Given the description of an element on the screen output the (x, y) to click on. 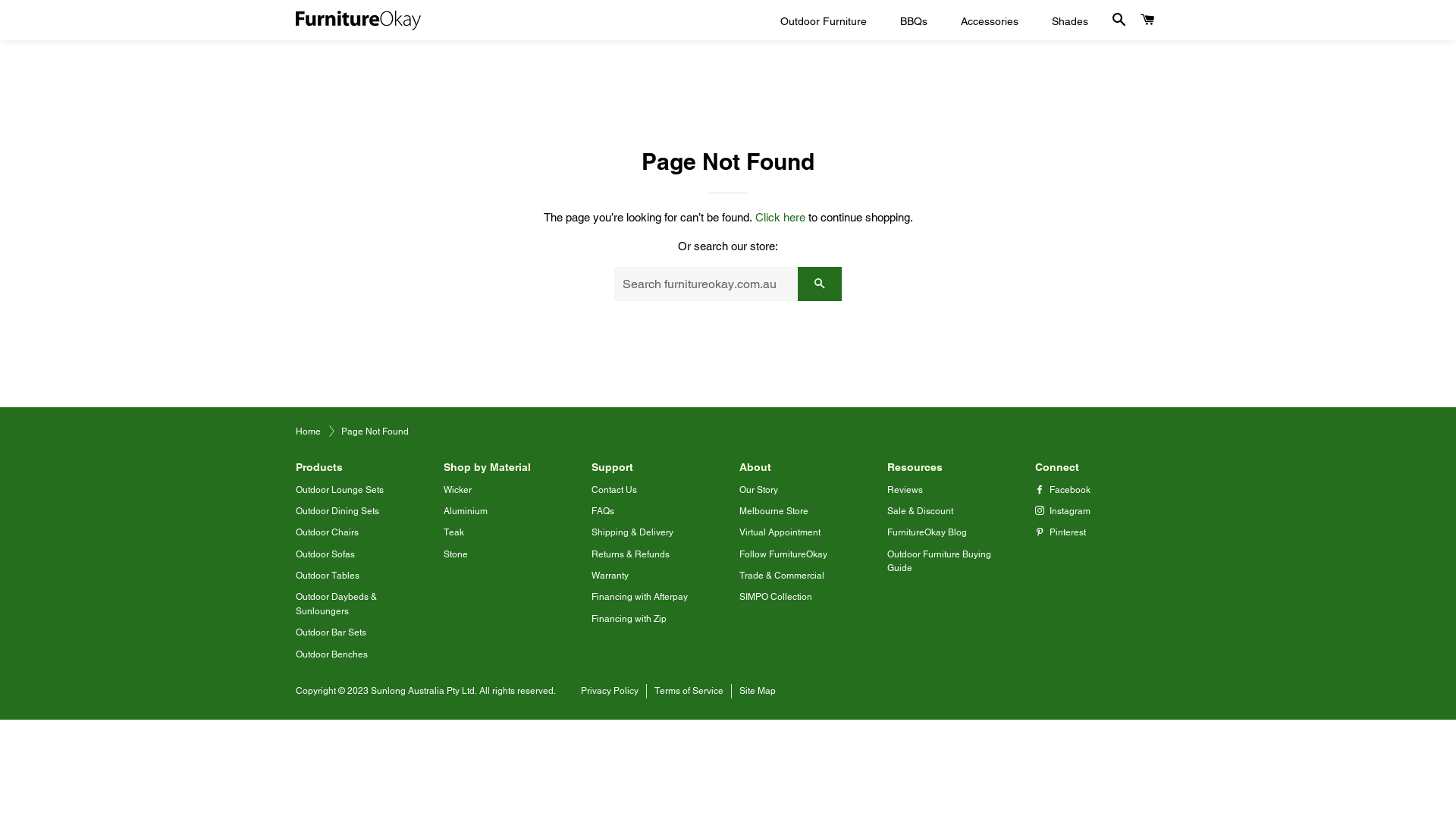
Facebook Element type: text (1062, 489)
Warranty Element type: text (609, 575)
Click here Element type: text (780, 216)
Home Element type: text (307, 431)
Melbourne Store Element type: text (773, 510)
Aluminium Element type: text (465, 510)
Trade & Commercial Element type: text (781, 575)
Sale & Discount Element type: text (920, 510)
Outdoor Tables Element type: text (327, 575)
Follow FurnitureOkay Element type: text (783, 554)
Search Element type: text (1119, 20)
SIMPO Collection Element type: text (775, 596)
Shades Element type: text (1069, 21)
Outdoor Chairs Element type: text (326, 532)
Outdoor Daybeds & Sunloungers Element type: text (335, 603)
Reviews Element type: text (904, 489)
Outdoor Benches Element type: text (331, 654)
Outdoor Lounge Sets Element type: text (339, 489)
Site Map Element type: text (761, 691)
FAQs Element type: text (602, 510)
Cart Element type: text (1147, 20)
Outdoor Furniture Element type: text (823, 21)
Contact Us Element type: text (614, 489)
Stone Element type: text (455, 554)
Virtual Appointment Element type: text (779, 532)
Privacy Policy Element type: text (613, 691)
Pinterest Element type: text (1060, 532)
Financing with Afterpay Element type: text (639, 596)
Shipping & Delivery Element type: text (632, 532)
Financing with Zip Element type: text (628, 618)
Outdoor Dining Sets Element type: text (337, 510)
FurnitureOkay Blog Element type: text (926, 532)
Outdoor Sofas Element type: text (324, 554)
Instagram Element type: text (1062, 510)
Accessories Element type: text (989, 21)
Outdoor Furniture Buying Guide Element type: text (939, 561)
Our Story Element type: text (758, 489)
Search Element type: text (819, 283)
Teak Element type: text (453, 532)
Wicker Element type: text (457, 489)
Returns & Refunds Element type: text (630, 554)
Terms of Service Element type: text (692, 691)
BBQs Element type: text (913, 21)
Outdoor Bar Sets Element type: text (330, 632)
